Given the description of an element on the screen output the (x, y) to click on. 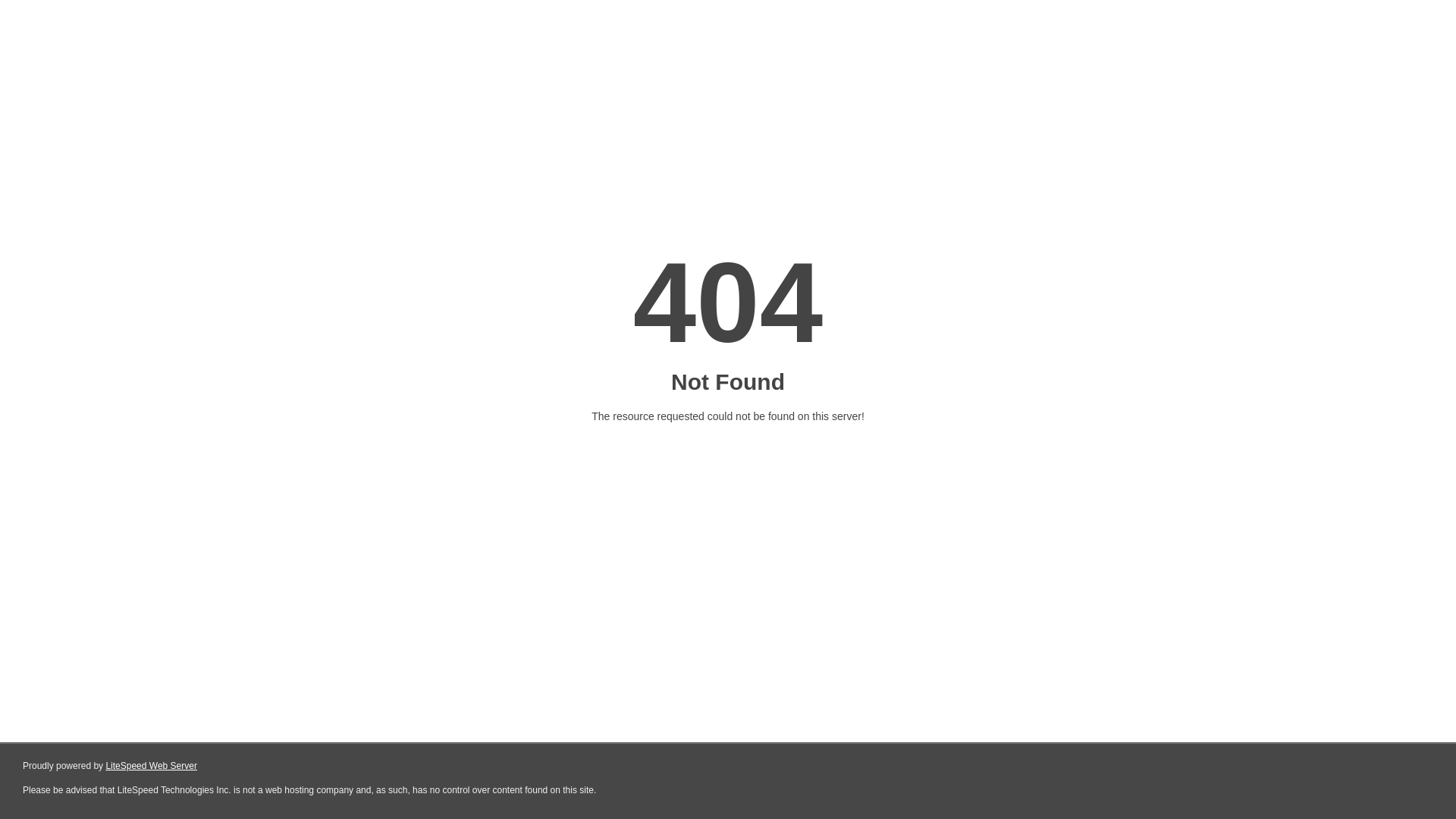
LiteSpeed Web Server Element type: text (151, 765)
